Given the description of an element on the screen output the (x, y) to click on. 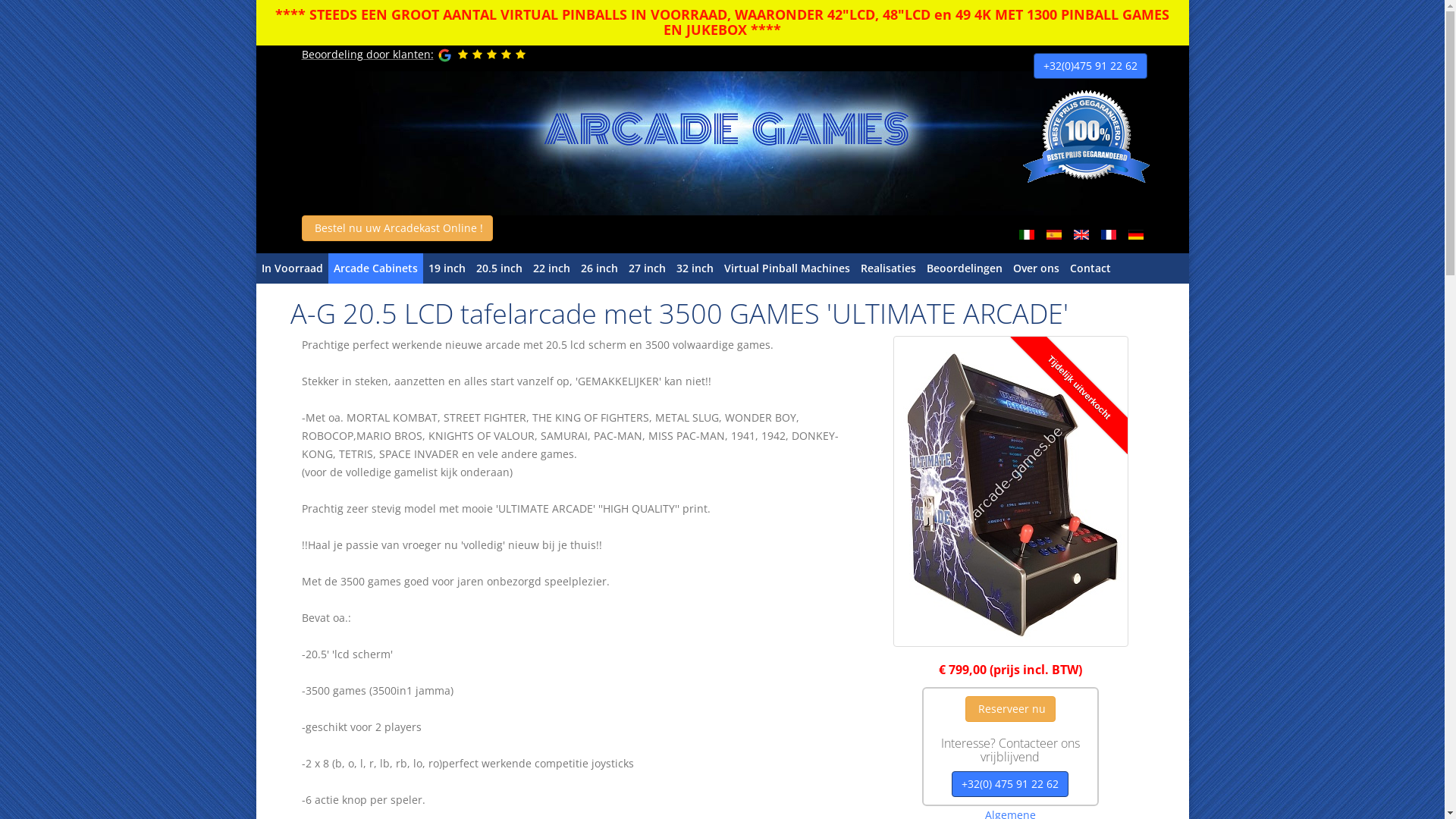
+32(0) 475 91 22 62 Element type: text (1009, 784)
Beoordeling door klanten: Element type: text (367, 54)
Bestel nu uw Arcadekast Online ! Element type: text (396, 228)
+32(0)475 91 22 62 Element type: text (1089, 65)
22 inch Element type: text (551, 268)
26 inch Element type: text (598, 268)
32 inch Element type: text (694, 268)
27 inch Element type: text (647, 268)
In Voorraad Element type: text (292, 268)
Contact Element type: text (1090, 268)
20.5 inch Element type: text (498, 268)
19 inch Element type: text (446, 268)
Beoordelingen Element type: text (963, 268)
Realisaties Element type: text (888, 268)
Virtual Pinball Machines Element type: text (786, 268)
Arcade Cabinet Element type: text (722, 143)
Reserveer nu Element type: text (1010, 708)
Over ons Element type: text (1035, 268)
Arcade Cabinets Element type: text (374, 268)
